Given the description of an element on the screen output the (x, y) to click on. 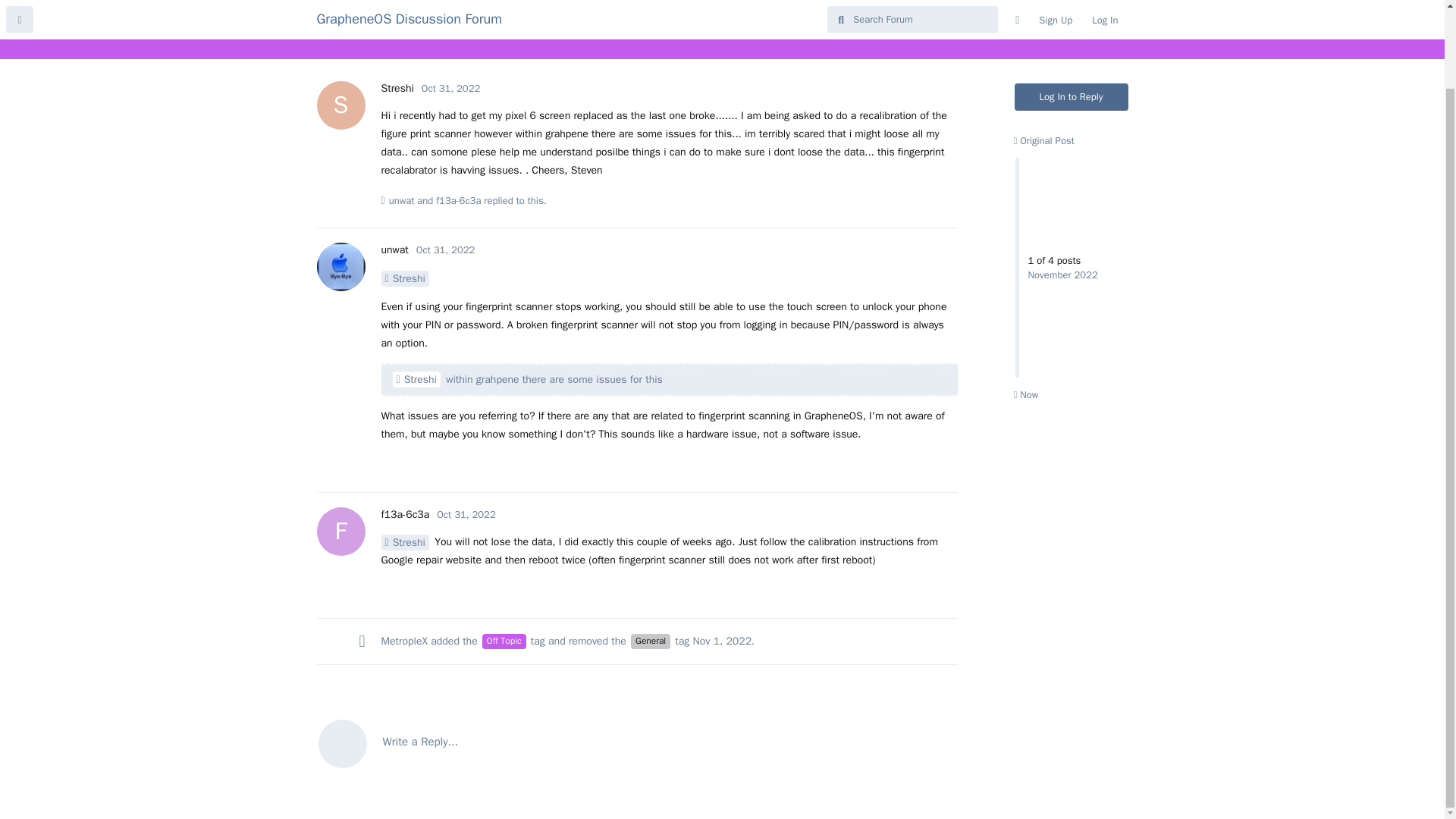
unwat (393, 249)
Streshi (417, 379)
Oct 31, 2022 (451, 88)
Log In to Reply (404, 513)
Write a Reply... (1071, 96)
MetropleX (636, 742)
Tuesday, November 1, 2022 2:56 PM (404, 640)
Streshi (722, 640)
f13a-6c3a (404, 277)
General (457, 200)
unwat (649, 641)
Oct 31, 2022 (401, 200)
Monday, October 31, 2022 10:39 PM (465, 513)
Oct 31, 2022 (451, 88)
